Given the description of an element on the screen output the (x, y) to click on. 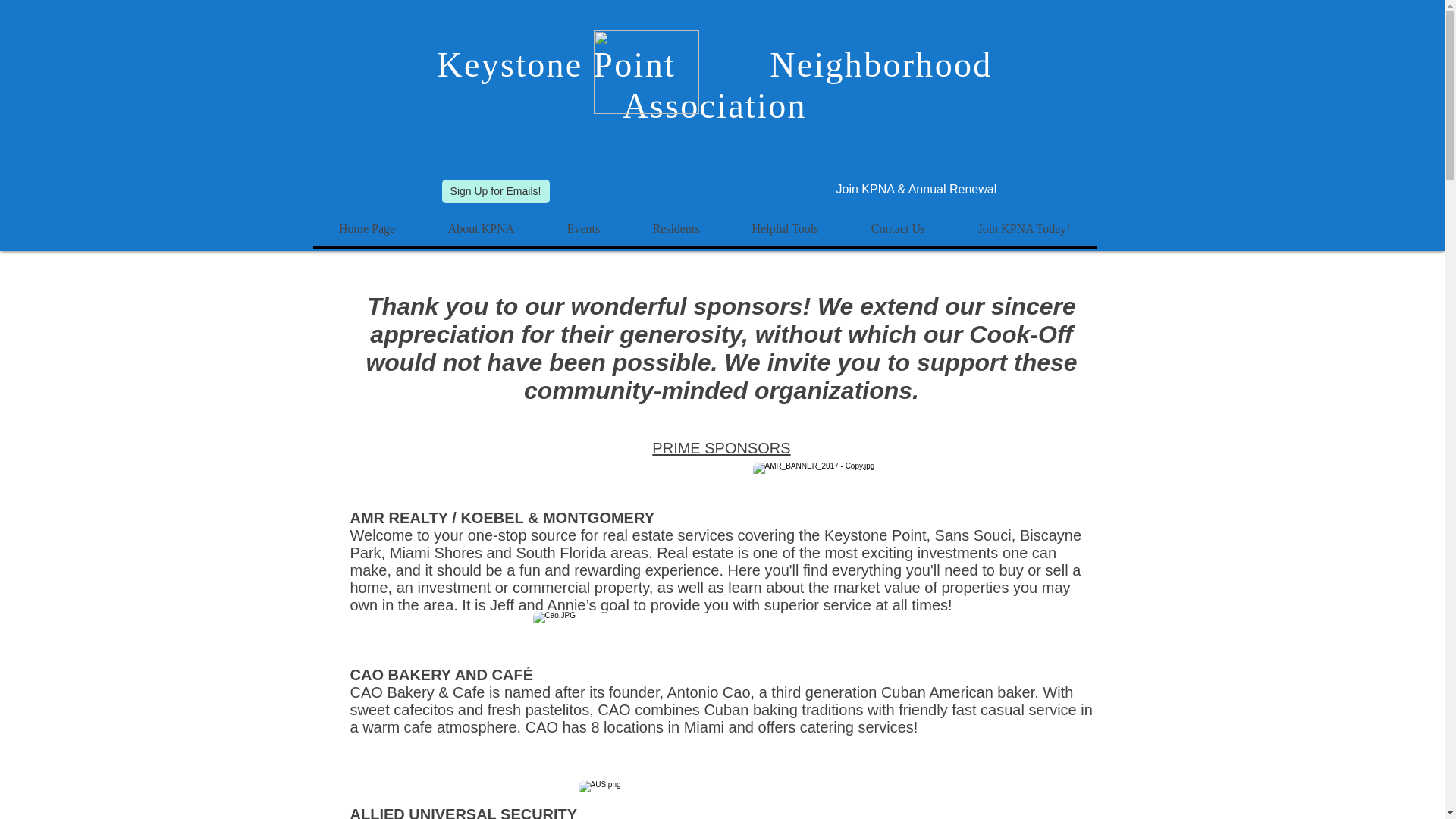
Sign Up for Emails! (494, 191)
Home Page (366, 228)
Contact Us (898, 228)
About KPNA (481, 228)
Join KPNA Today! (1023, 228)
